Given the description of an element on the screen output the (x, y) to click on. 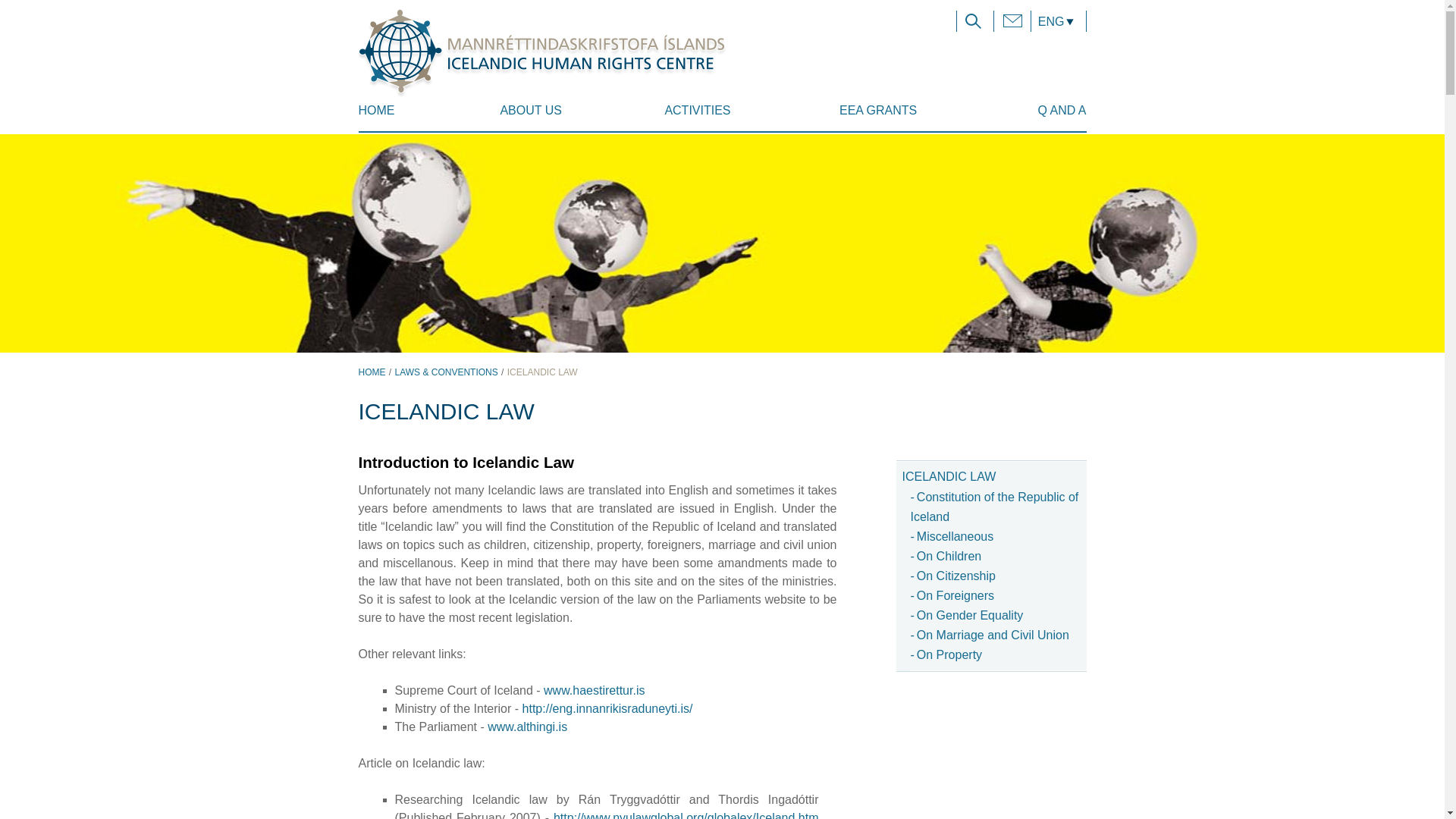
ICELANDIC LAW (542, 371)
On Foreigners (952, 594)
On Marriage and Civil Union (989, 634)
On Gender Equality (966, 615)
Home (395, 116)
HOME (371, 371)
On Property (945, 654)
www.haestirettur.is (594, 689)
About us (530, 116)
On Children (945, 555)
